Given the description of an element on the screen output the (x, y) to click on. 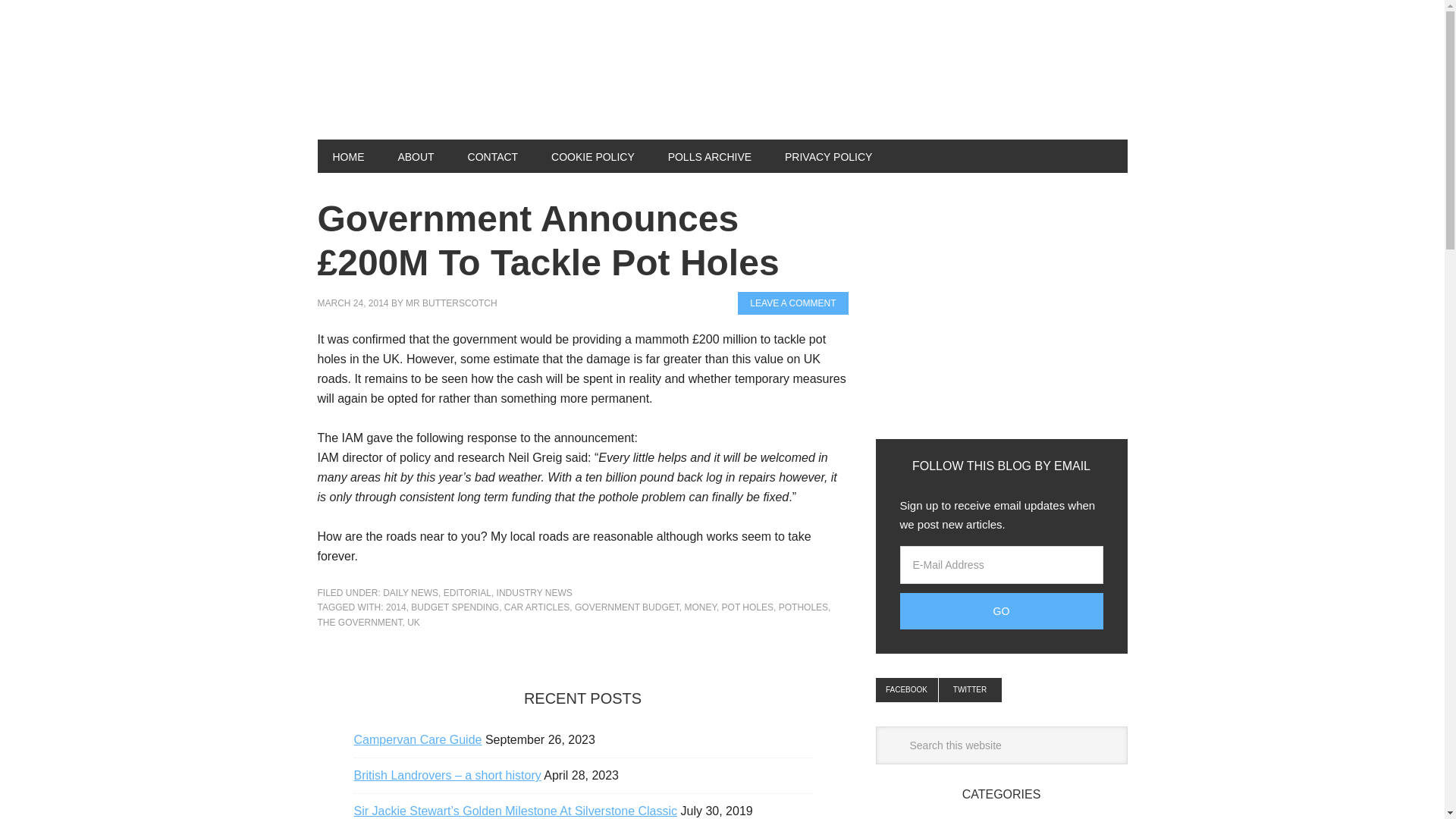
COOKIE POLICY (592, 155)
BUDGET SPENDING (454, 606)
Campervan Care Guide (417, 739)
HOME (347, 155)
POLLS ARCHIVE (709, 155)
GOVERNMENT BUDGET (627, 606)
Go (1000, 610)
UK (413, 622)
ABOUT (414, 155)
MONEY (700, 606)
